Given the description of an element on the screen output the (x, y) to click on. 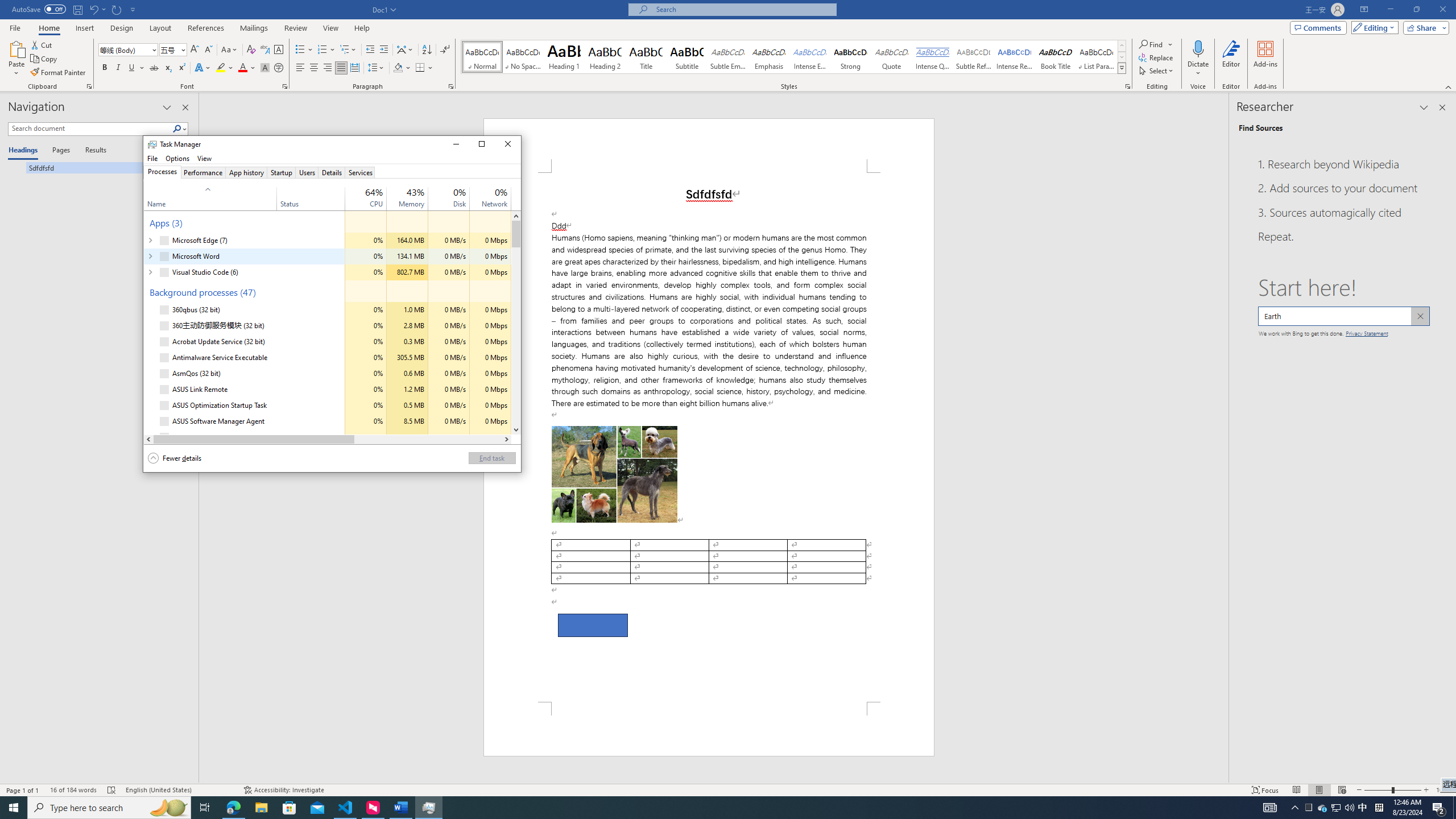
Application (331, 158)
Strong (849, 56)
Visual Studio Code - 1 running window (345, 807)
0% (500, 191)
Task View (204, 807)
Heading 2 (605, 56)
Page Number Page 1 of 1 (22, 790)
Options (177, 158)
